Given the description of an element on the screen output the (x, y) to click on. 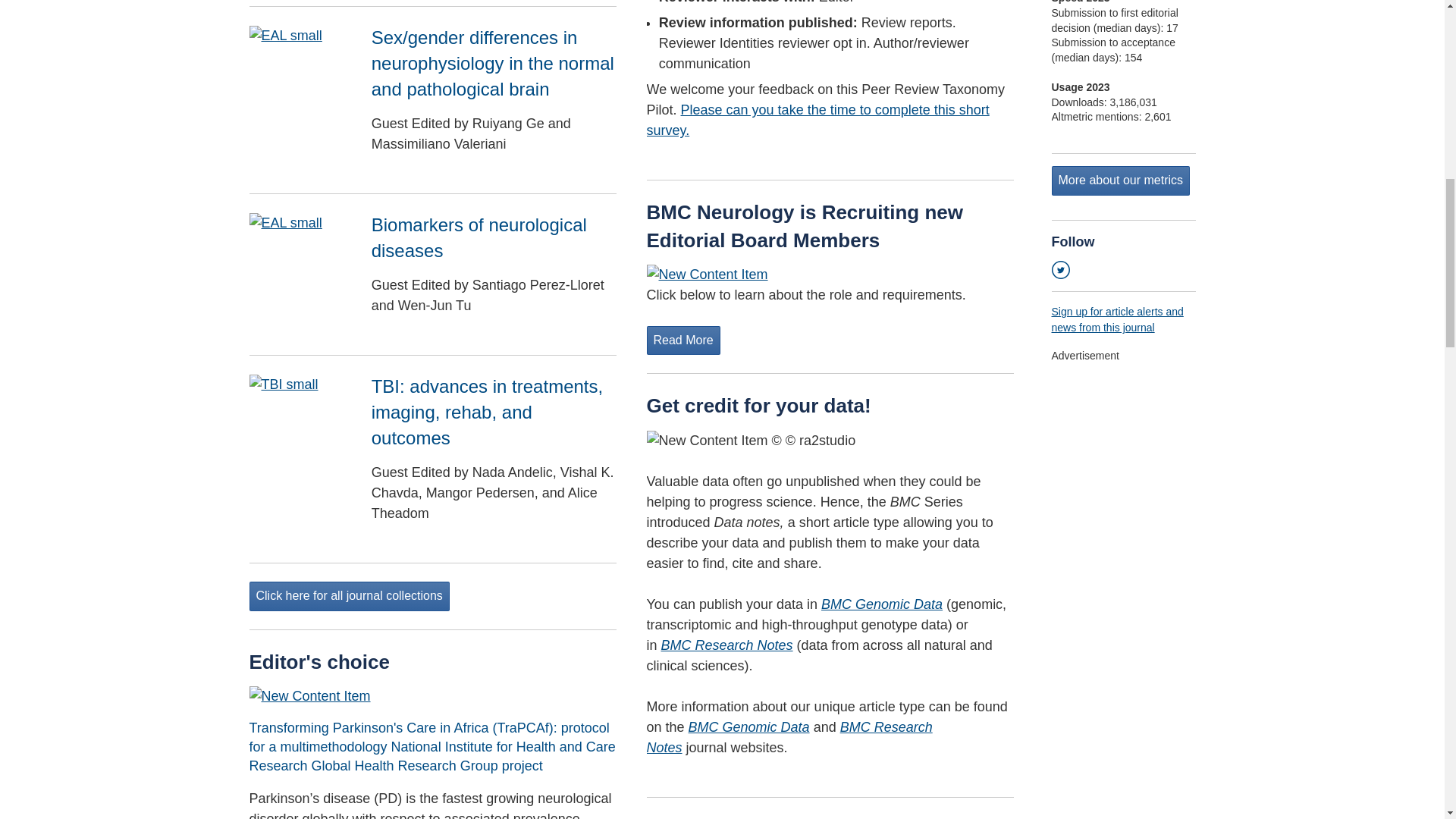
Biomarkers of neurological diseases (478, 237)
Click here for all journal collections (348, 595)
TBI: advances in treatments, imaging, rehab, and outcomes (486, 411)
